Given the description of an element on the screen output the (x, y) to click on. 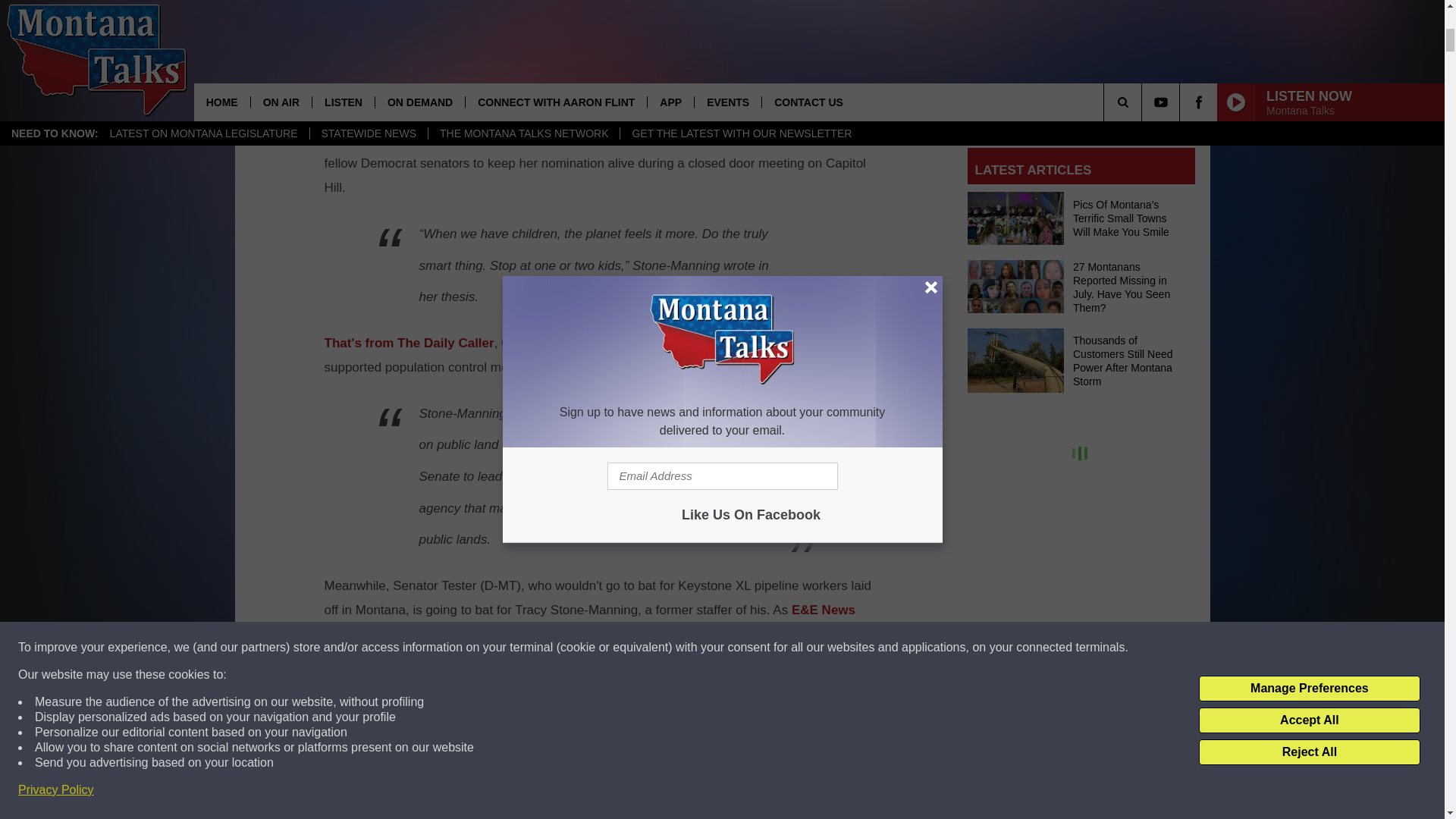
Email Address (1080, 103)
